Given the description of an element on the screen output the (x, y) to click on. 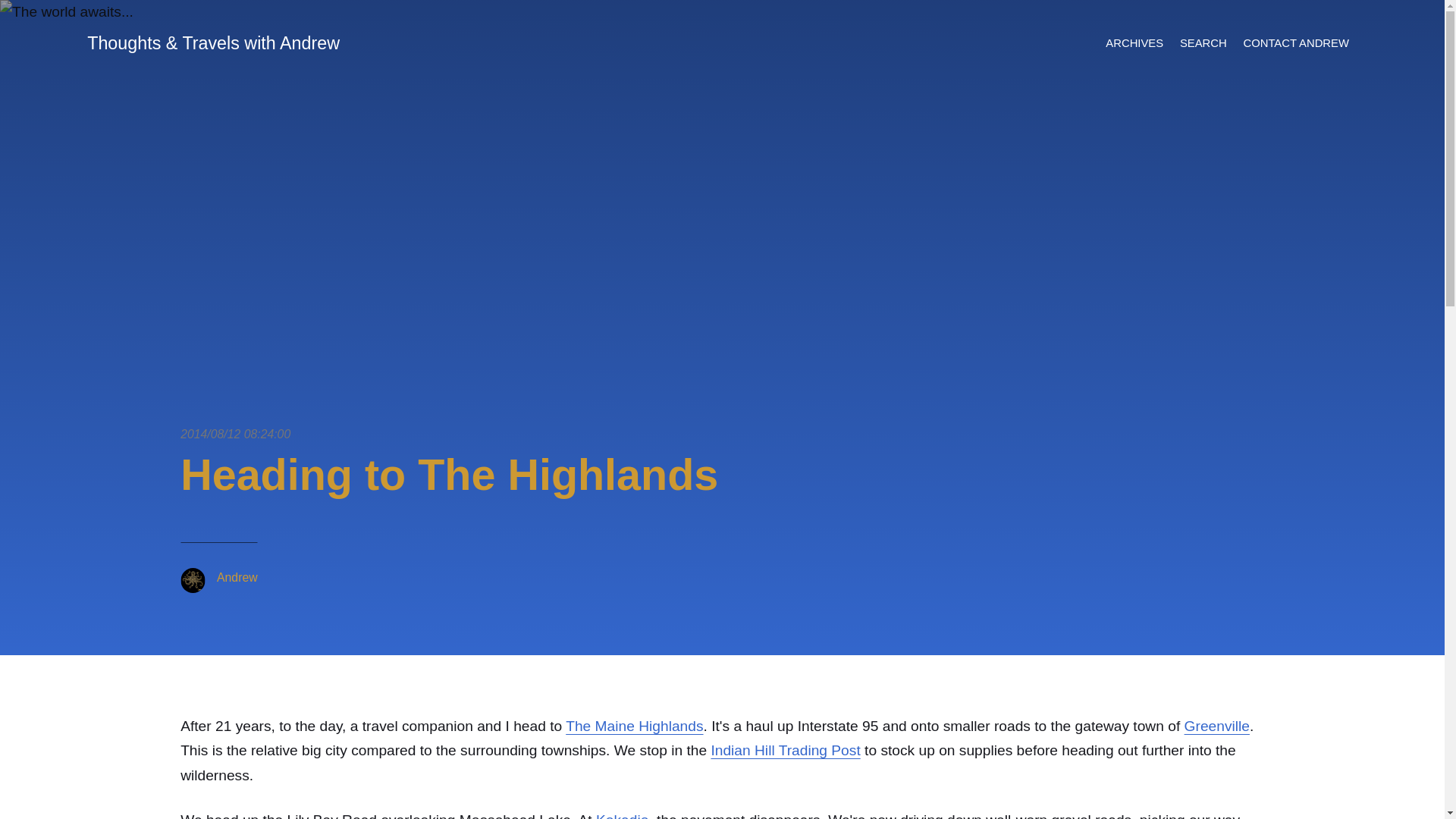
The Maine Highlands (634, 725)
ARCHIVES (1134, 43)
Indian Hill Trading Post (785, 750)
Greenville (1217, 725)
CONTACT ANDREW (1295, 43)
Andrew (236, 576)
SEARCH (1203, 43)
Kokadjo (621, 815)
